Given the description of an element on the screen output the (x, y) to click on. 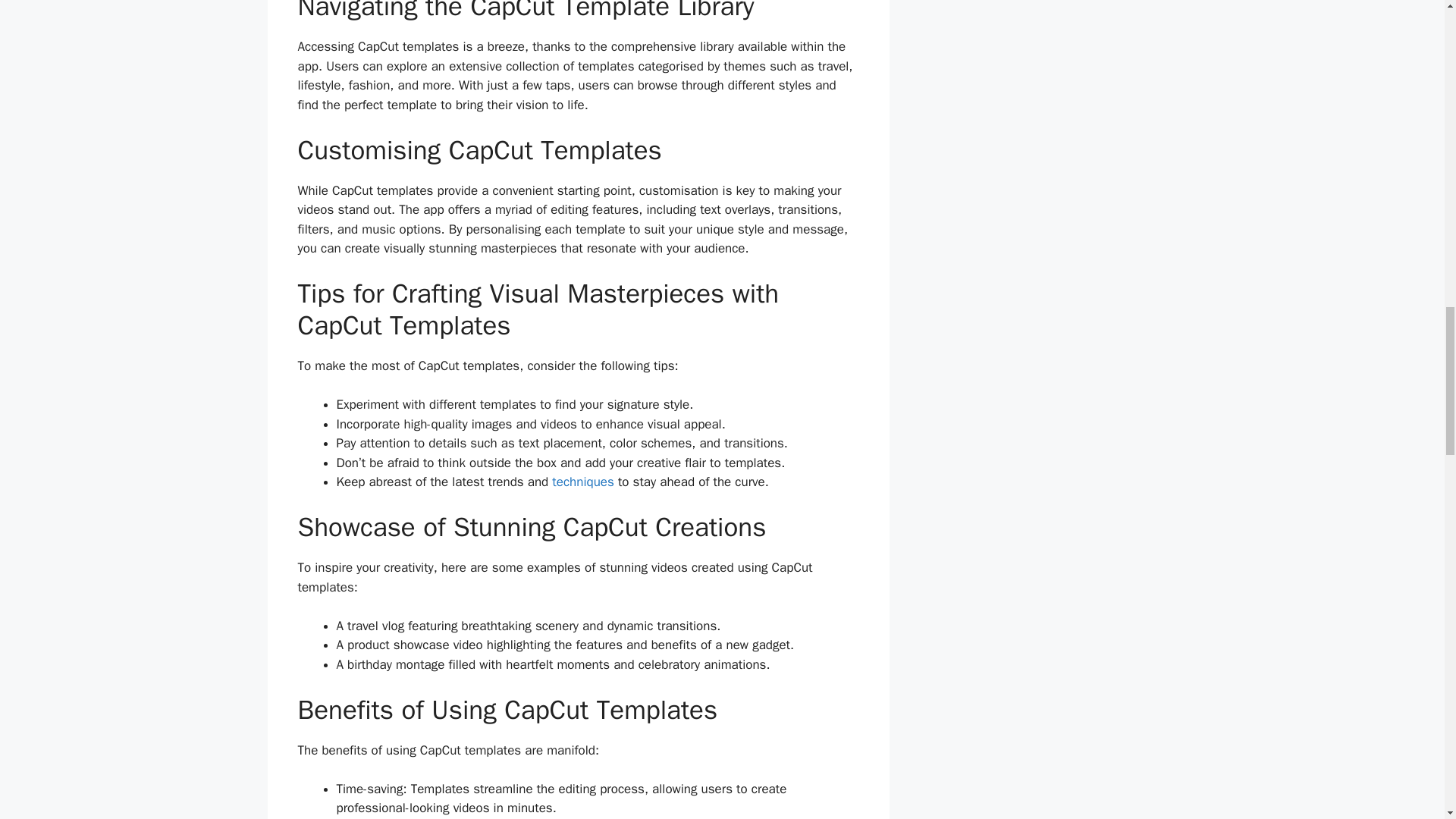
techniques (581, 481)
